Given the description of an element on the screen output the (x, y) to click on. 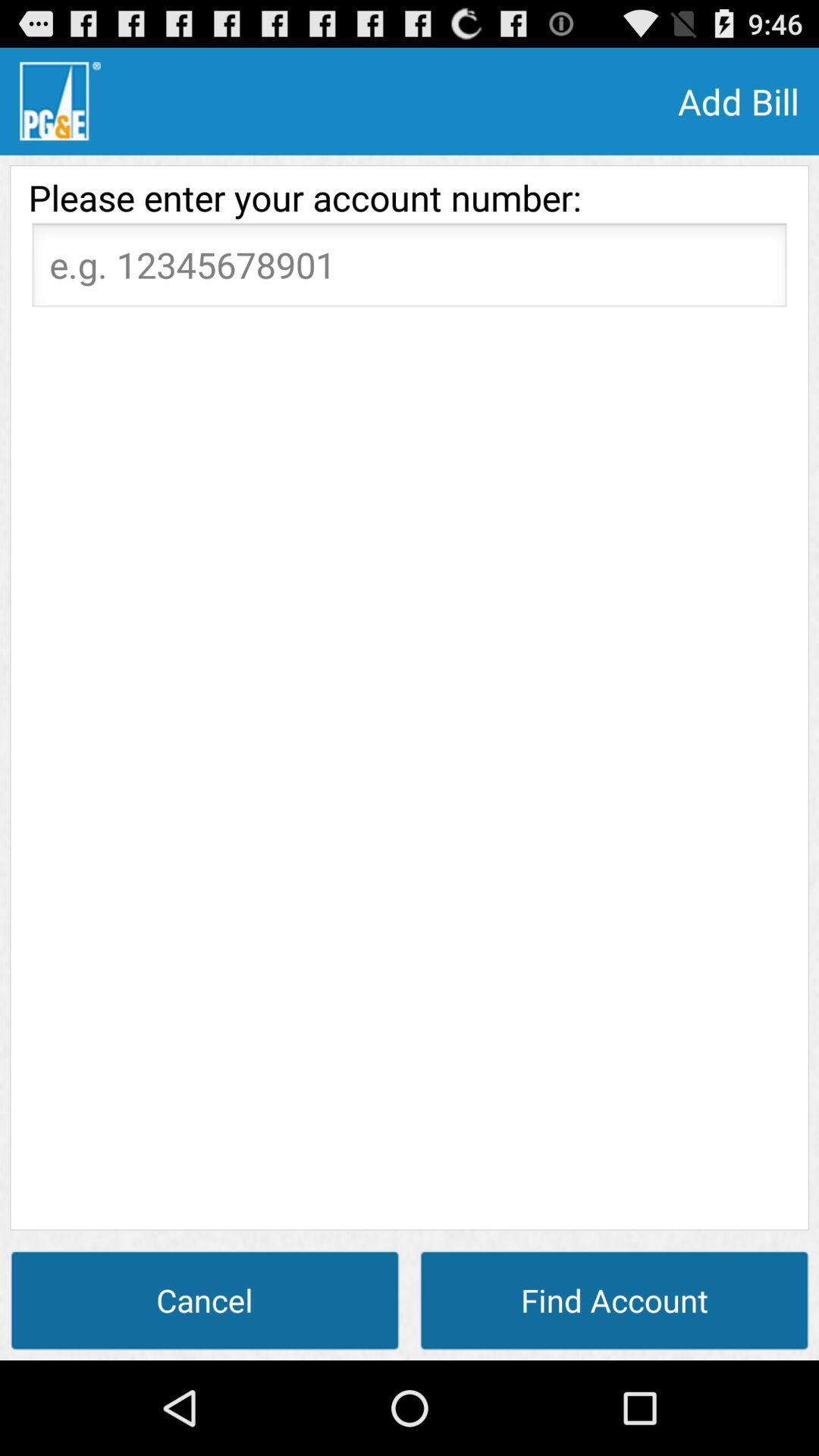
search bar (409, 269)
